Given the description of an element on the screen output the (x, y) to click on. 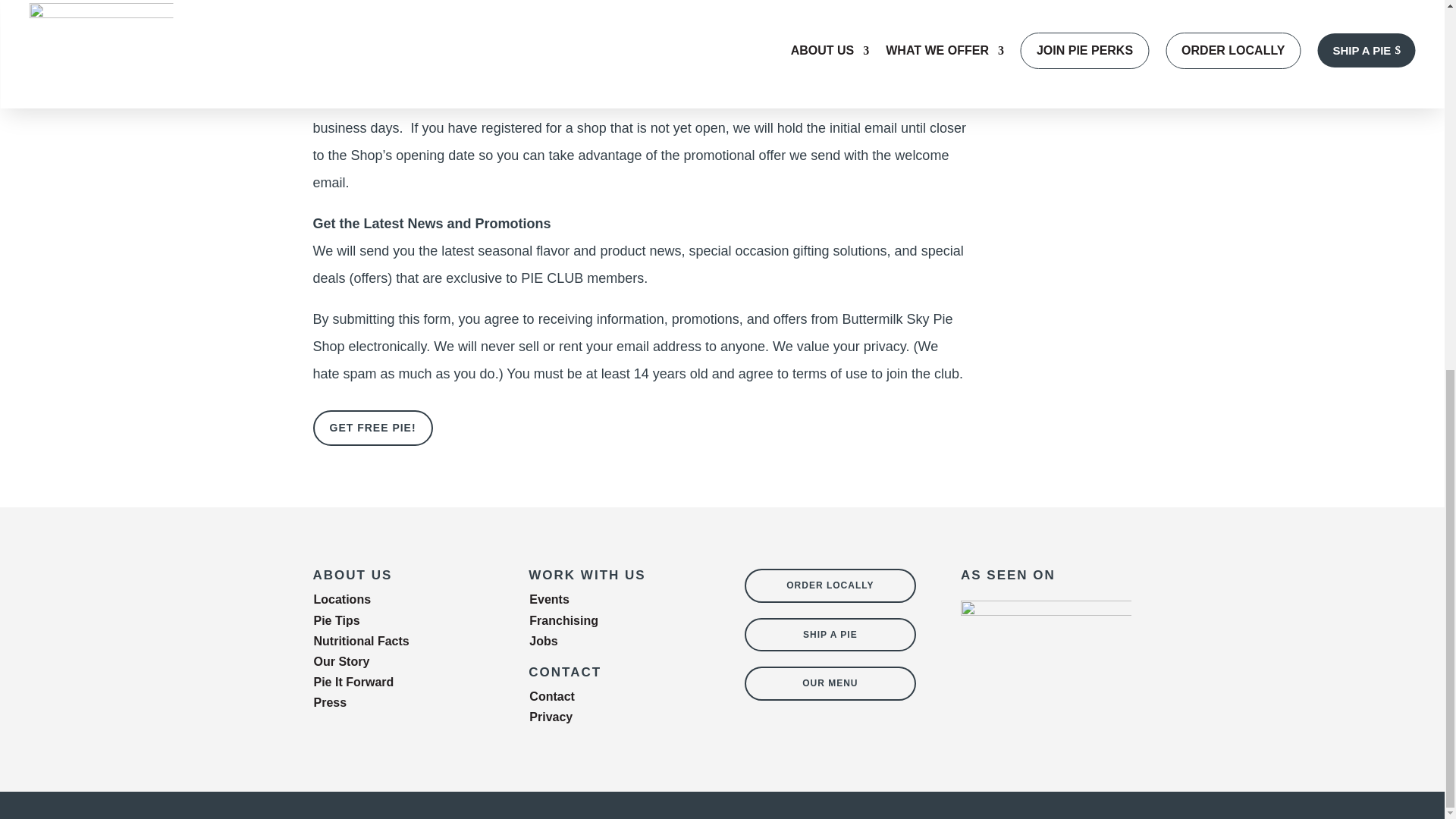
ORDER LOCALLY (829, 584)
Events (549, 599)
Pie It Forward (354, 681)
Franchising (563, 620)
Locations (342, 599)
Nutritional Facts (361, 640)
Contact (552, 696)
as-seen-on-footer-3-2col (1045, 660)
GET FREE PIE! (372, 428)
Privacy (550, 716)
Our Story (341, 661)
Jobs (543, 640)
OUR MENU (829, 683)
Pie Tips (336, 620)
Press (330, 702)
